Given the description of an element on the screen output the (x, y) to click on. 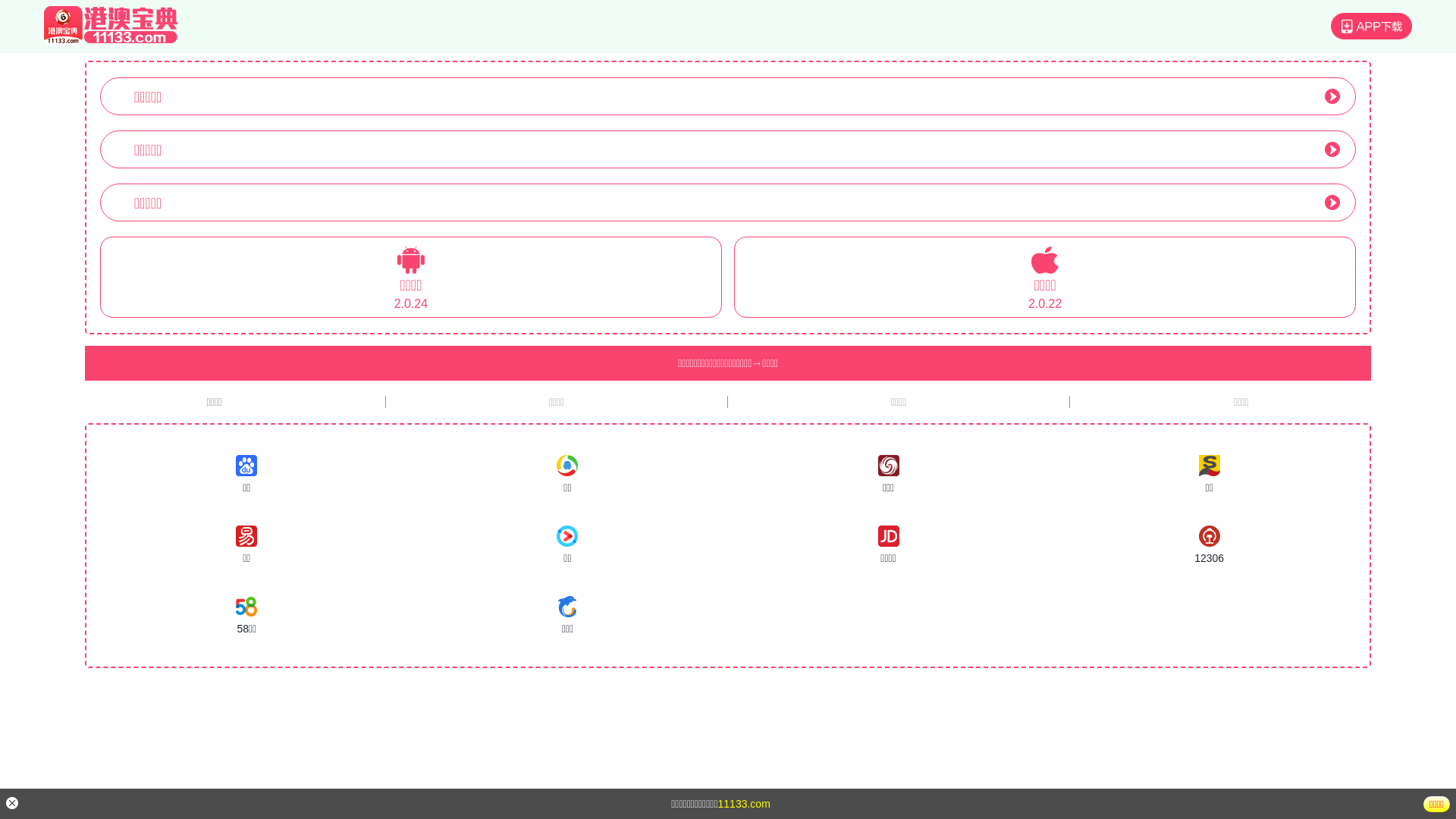
12306 Element type: text (1208, 545)
